Given the description of an element on the screen output the (x, y) to click on. 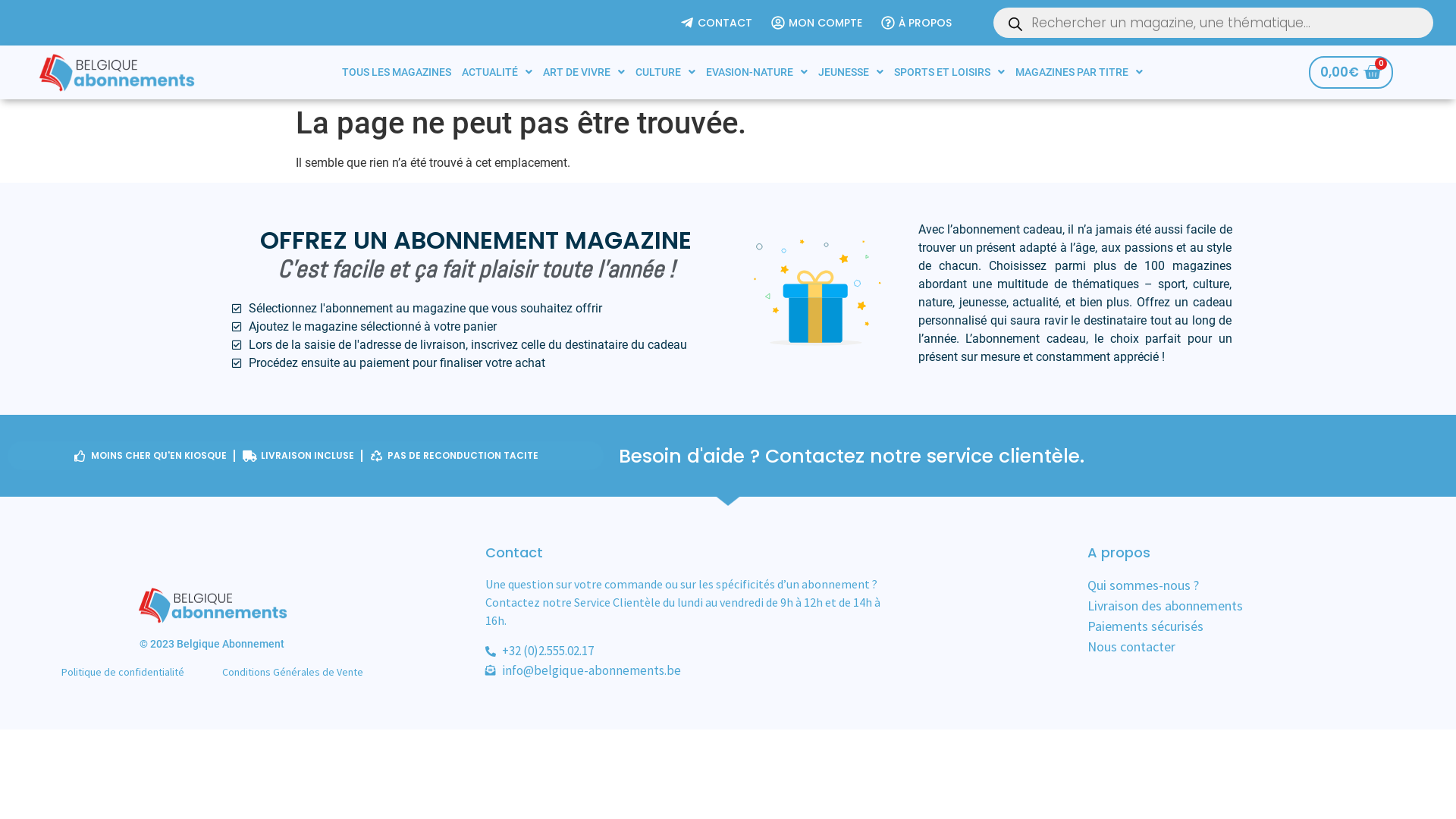
EVASION-NATURE Element type: text (756, 71)
CULTURE Element type: text (665, 71)
info@belgique-abonnements.be Element type: text (771, 670)
Qui sommes-nous ? Element type: text (1257, 584)
PAS DE RECONDUCTION TACITE Element type: text (454, 455)
JEUNESSE Element type: text (850, 71)
+32 (0)2.555.02.17 Element type: text (771, 651)
LIVRAISON INCLUSE Element type: text (298, 455)
Livraison des abonnements Element type: text (1257, 605)
MAGAZINES PAR TITRE Element type: text (1079, 71)
ART DE VIVRE Element type: text (583, 71)
TOUS LES MAGAZINES Element type: text (396, 71)
MOINS CHER QU'EN KIOSQUE Element type: text (149, 455)
SPORTS ET LOISIRS Element type: text (949, 71)
Nous contacter Element type: text (1257, 646)
